Given the description of an element on the screen output the (x, y) to click on. 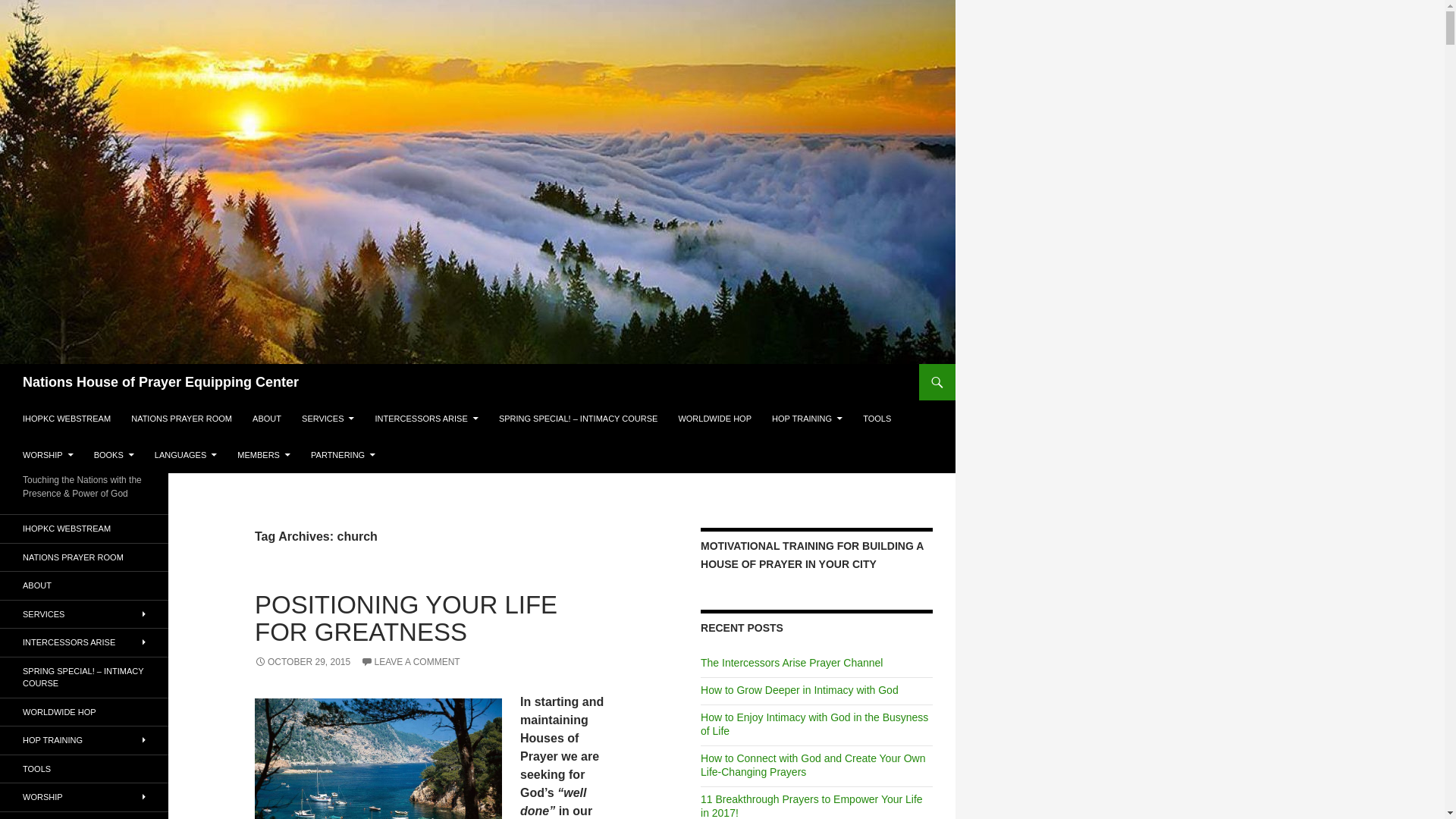
NATIONS PRAYER ROOM (181, 418)
INTERCESSORS ARISE (426, 418)
IHOPKC WEBSTREAM (66, 418)
SERVICES (327, 418)
Nations House of Prayer Equipping Center (160, 381)
Services (327, 418)
ABOUT (266, 418)
Services (84, 614)
WORLDWIDE HOP (714, 418)
Intercessors Arise (426, 418)
Intercessors Arise (84, 642)
HOP TRAINING (806, 418)
